Given the description of an element on the screen output the (x, y) to click on. 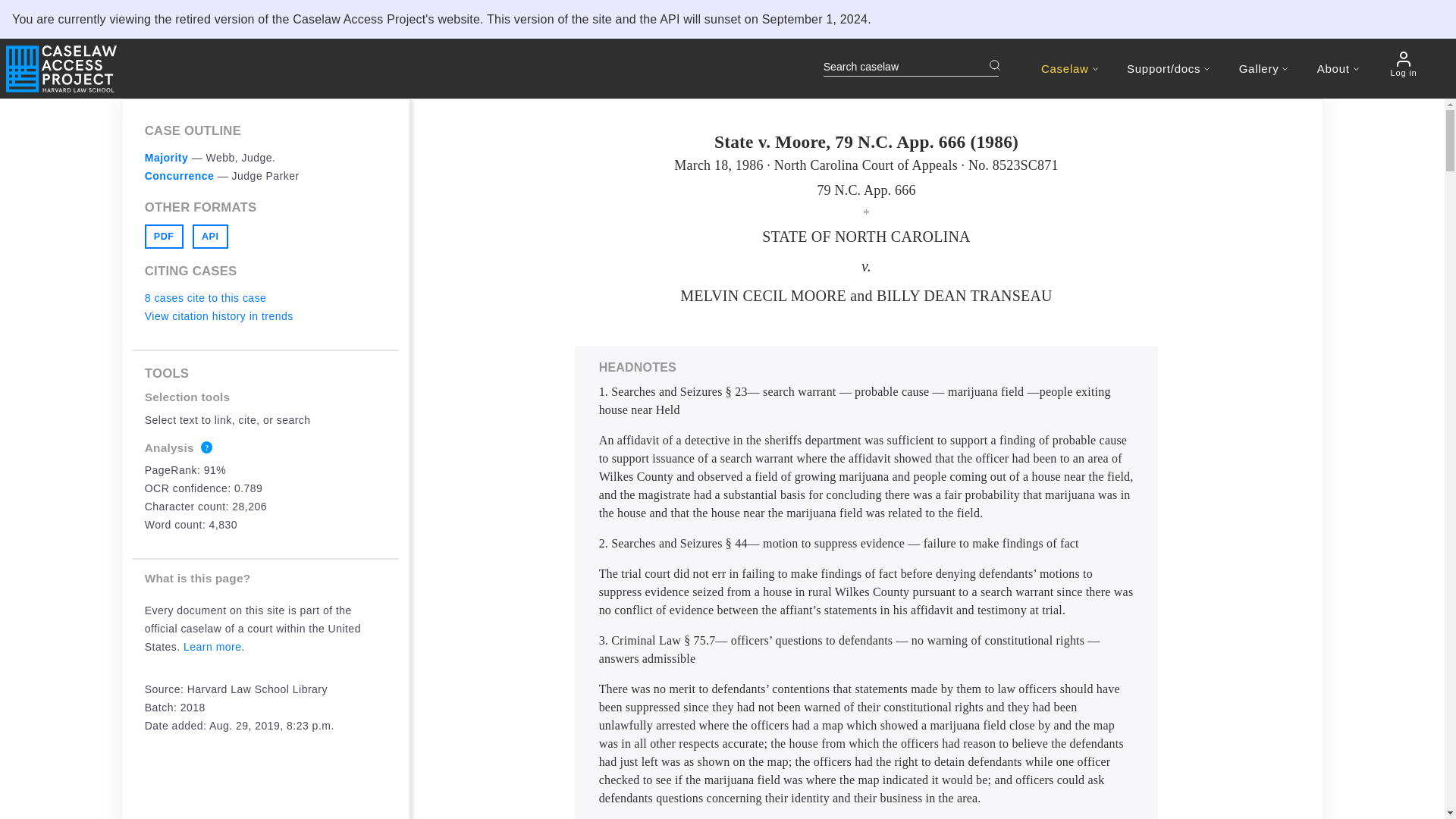
8 cases cite to this case (205, 297)
Log in (1403, 64)
API (210, 236)
About (1338, 68)
Concurrence (179, 175)
View citation history in trends (219, 316)
Majority (166, 157)
Gallery (1263, 68)
Caselaw (1069, 68)
Learn more (212, 646)
PDF (163, 236)
